Given the description of an element on the screen output the (x, y) to click on. 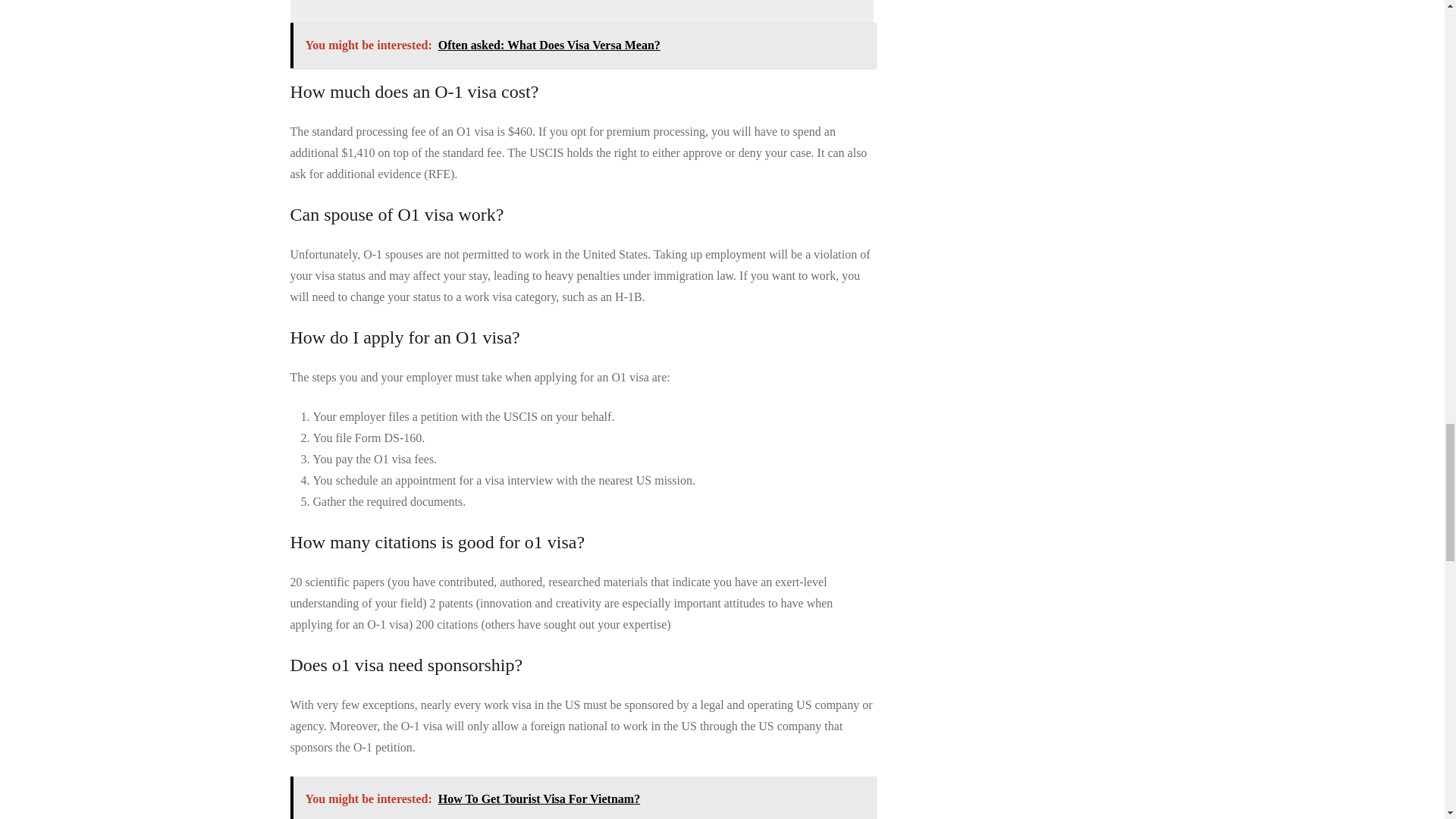
Advertisement (584, 11)
